Given the description of an element on the screen output the (x, y) to click on. 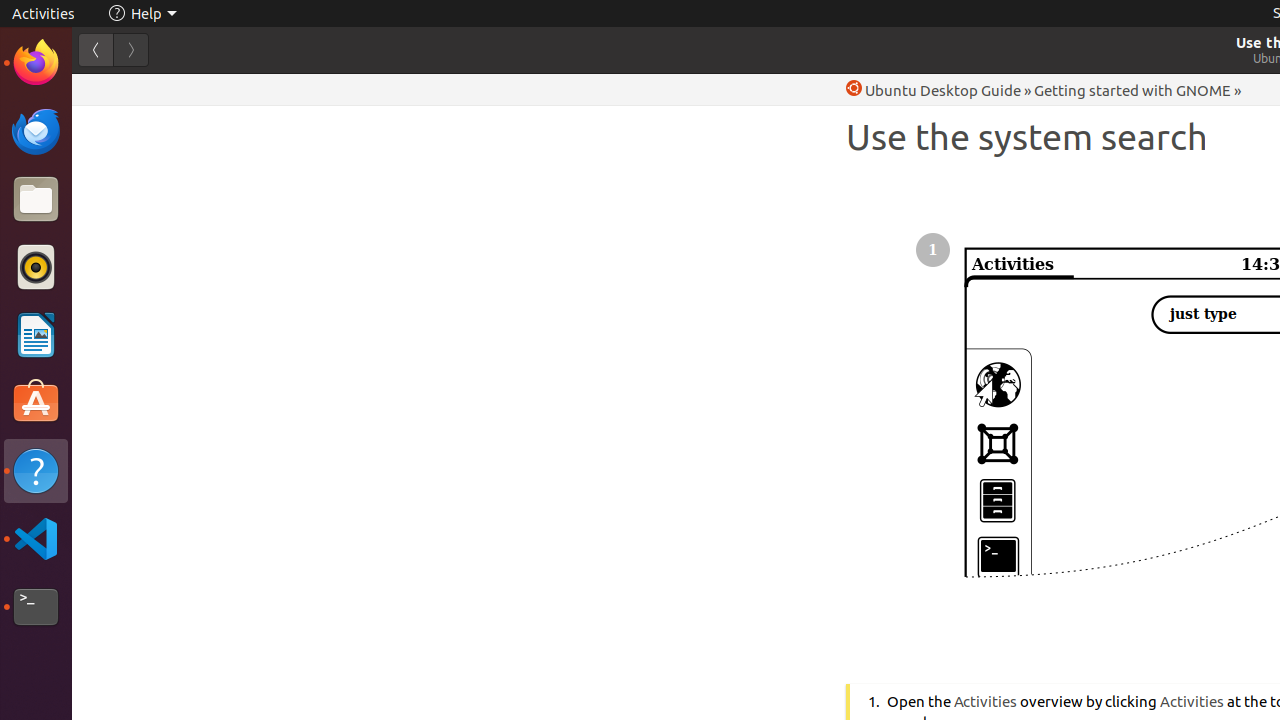
luyi1 Element type: label (133, 89)
Trash Element type: label (133, 191)
